Given the description of an element on the screen output the (x, y) to click on. 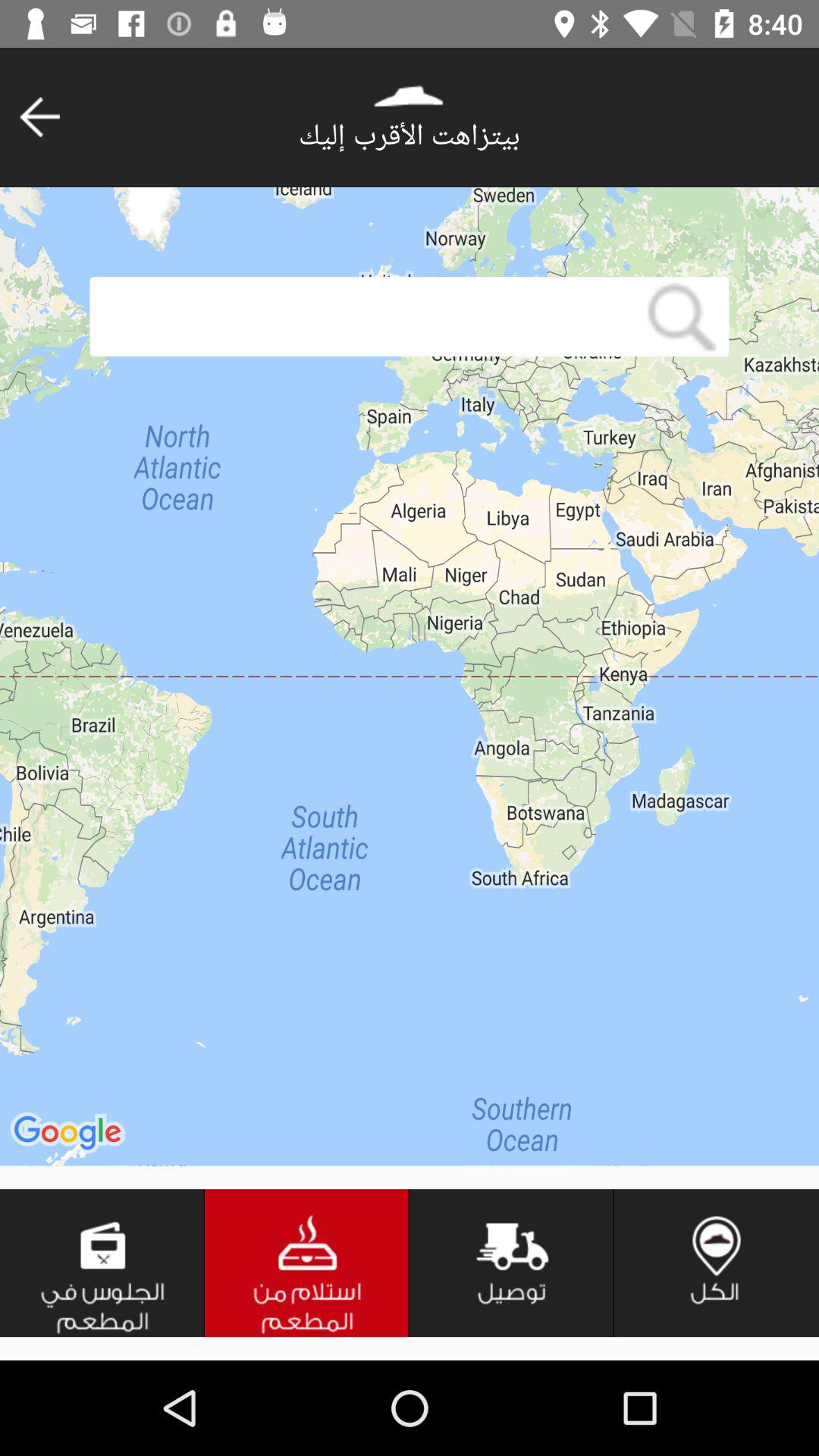
execute search (681, 316)
